Given the description of an element on the screen output the (x, y) to click on. 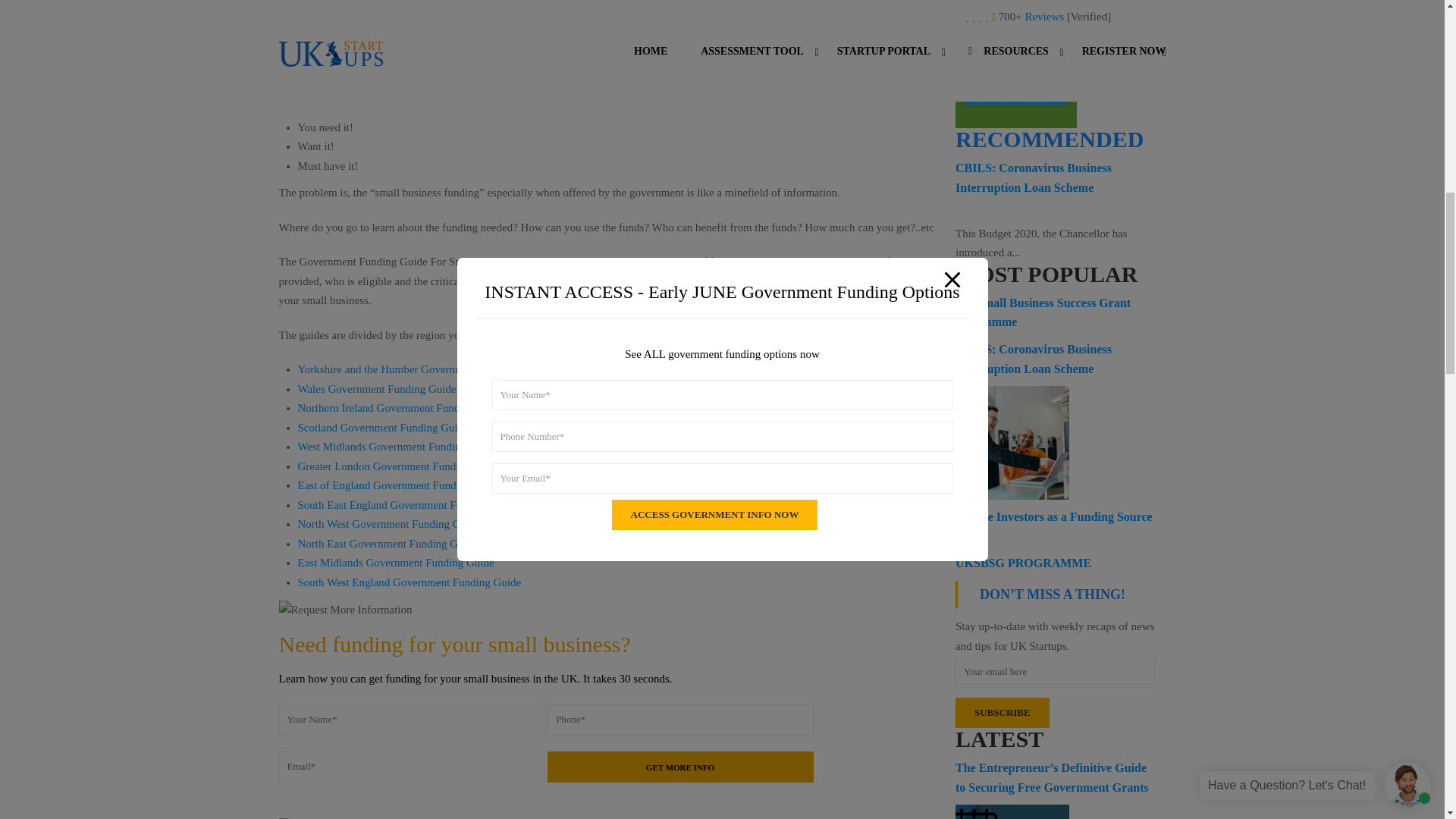
The Startup Portal (1016, 63)
SUBSCRIBE (1002, 712)
Get More Info (680, 766)
